Given the description of an element on the screen output the (x, y) to click on. 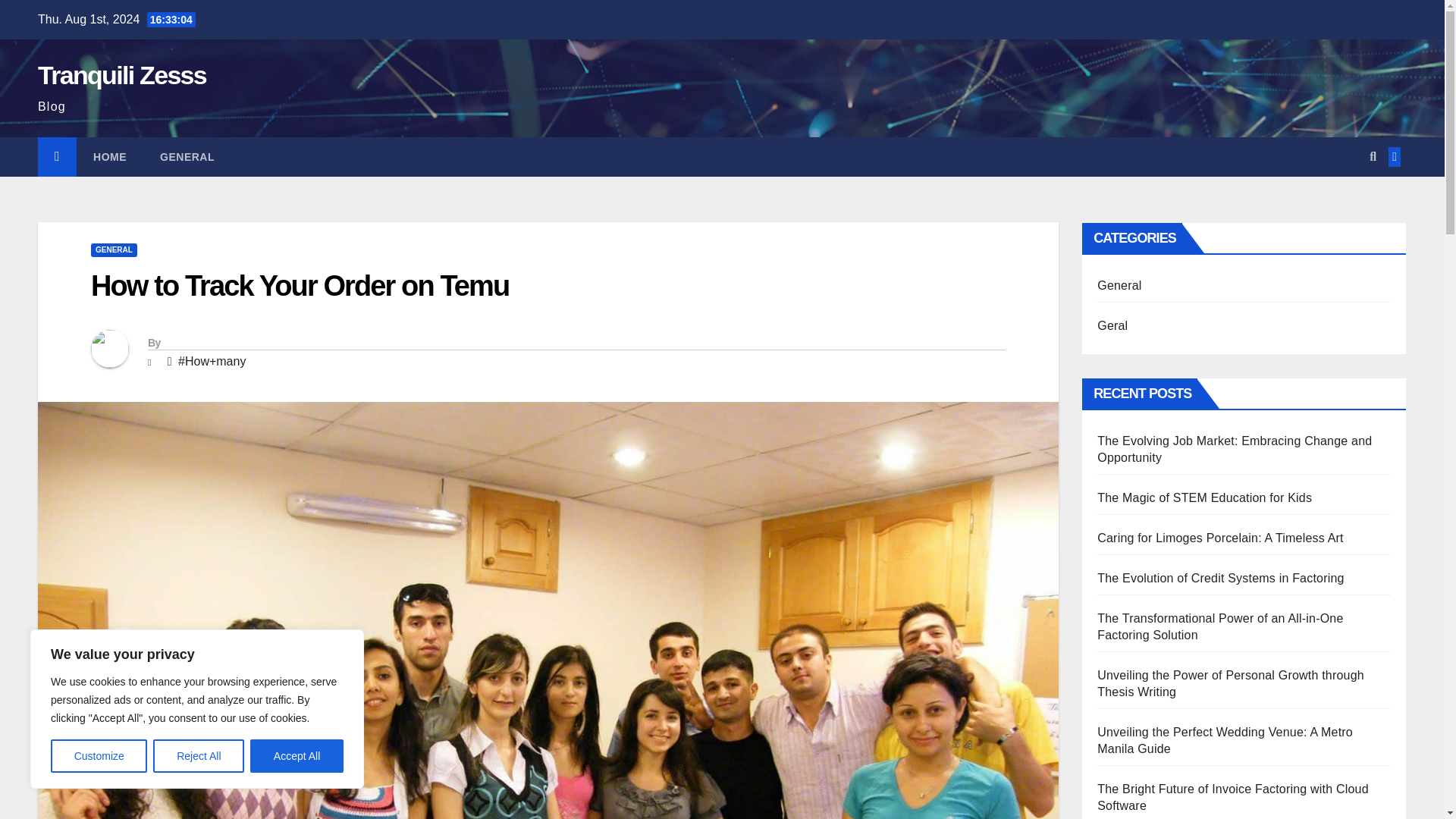
GENERAL (113, 250)
How to Track Your Order on Temu (299, 286)
Home (109, 156)
Permalink to: How to Track Your Order on Temu (299, 286)
GENERAL (186, 156)
Tranquili Zesss (121, 74)
Reject All (198, 756)
HOME (109, 156)
General (186, 156)
Customize (98, 756)
